Given the description of an element on the screen output the (x, y) to click on. 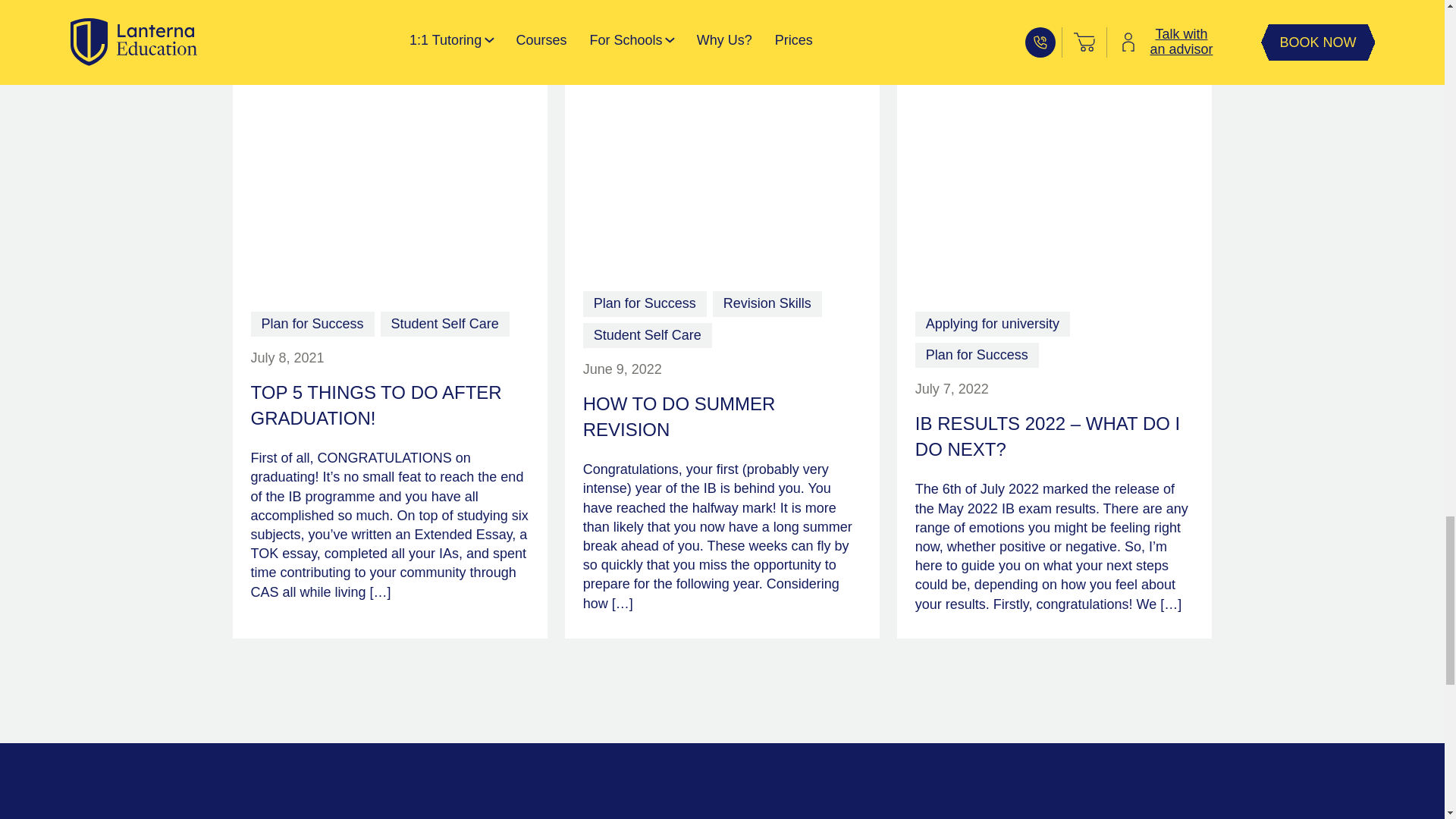
Top 5 Things To Do After Graduation! (389, 187)
How to do Summer Revision (722, 177)
